Given the description of an element on the screen output the (x, y) to click on. 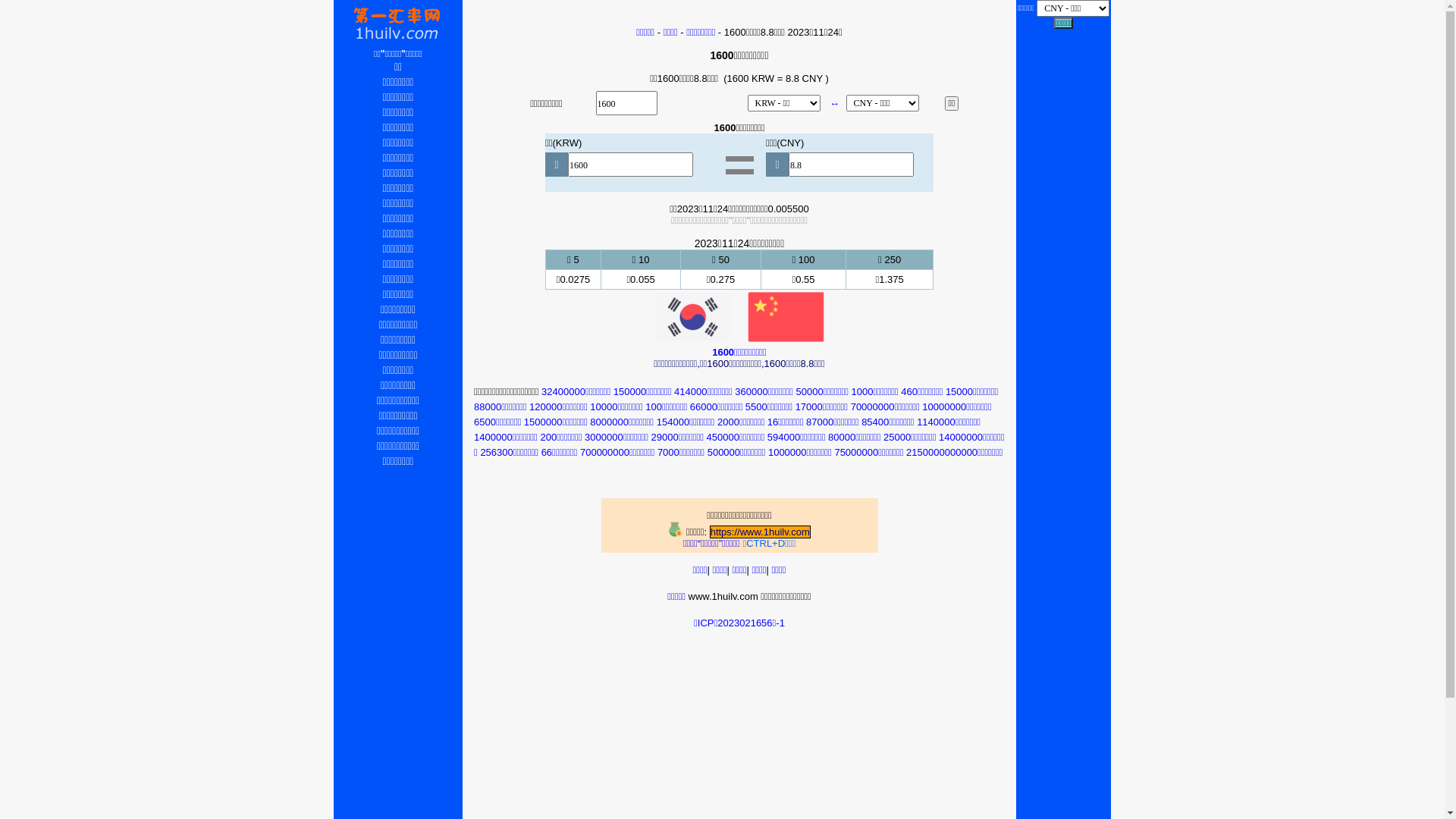
1huilv Element type: hover (675, 528)
